Given the description of an element on the screen output the (x, y) to click on. 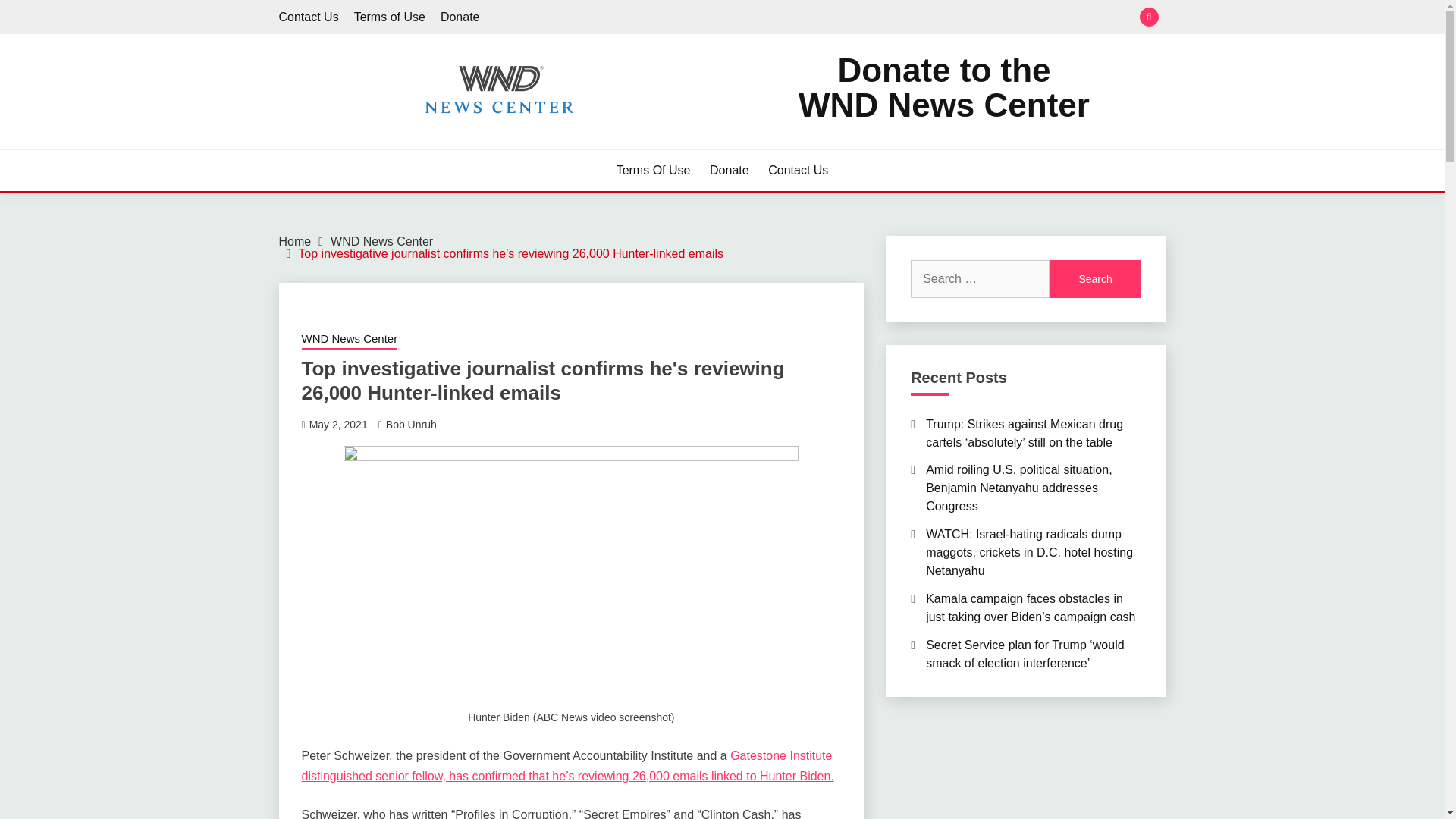
WND NEWS CENTER (419, 142)
Home (295, 241)
Terms of Use (389, 16)
Terms Of Use (652, 170)
May 2, 2021 (338, 424)
Search (832, 18)
Search (1095, 279)
WND News Center (349, 340)
Contact Us (309, 16)
Search (1095, 279)
Contact Us (798, 170)
WND News Center (943, 87)
Donate (381, 241)
